Given the description of an element on the screen output the (x, y) to click on. 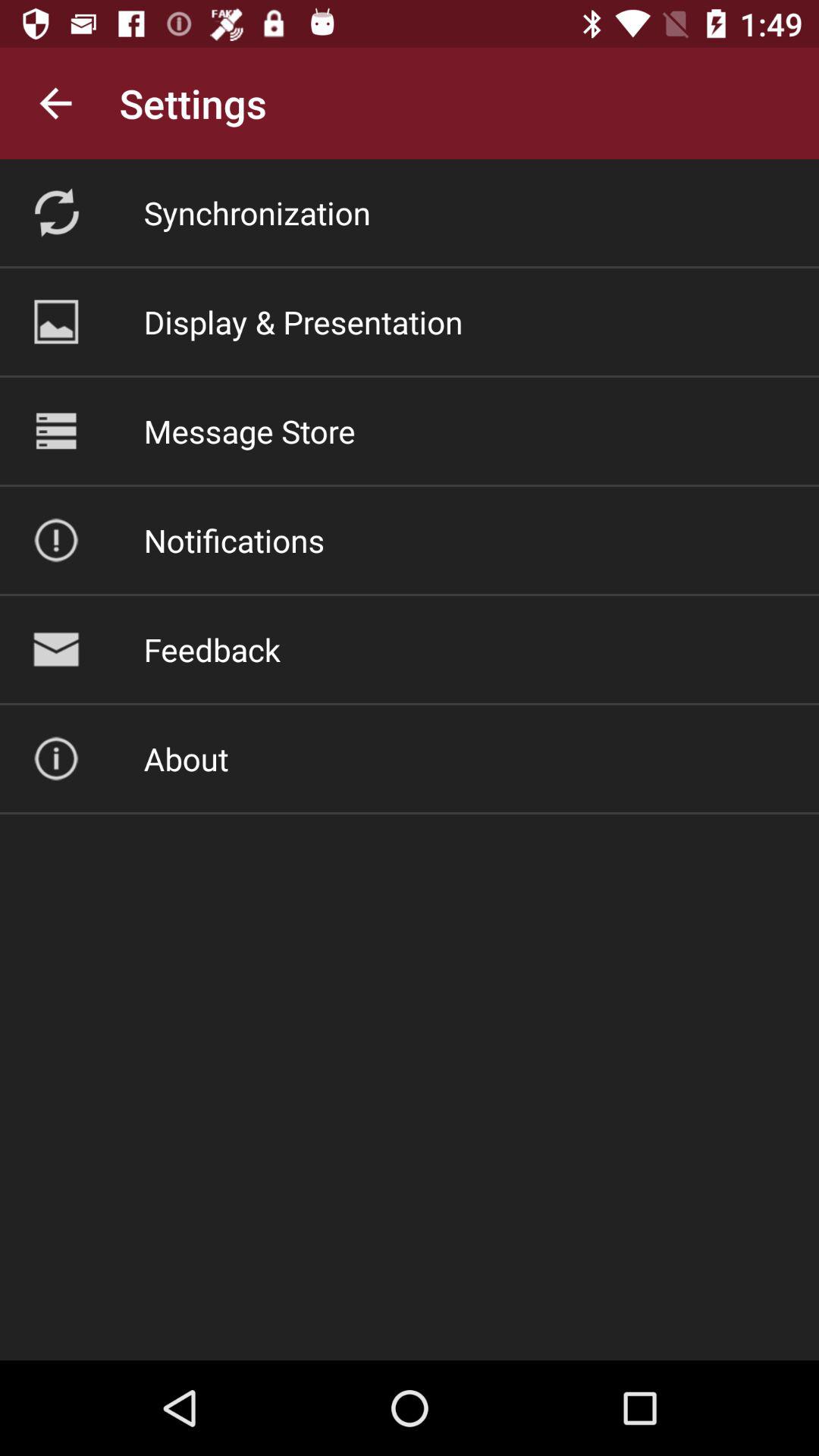
choose app next to settings icon (55, 103)
